Given the description of an element on the screen output the (x, y) to click on. 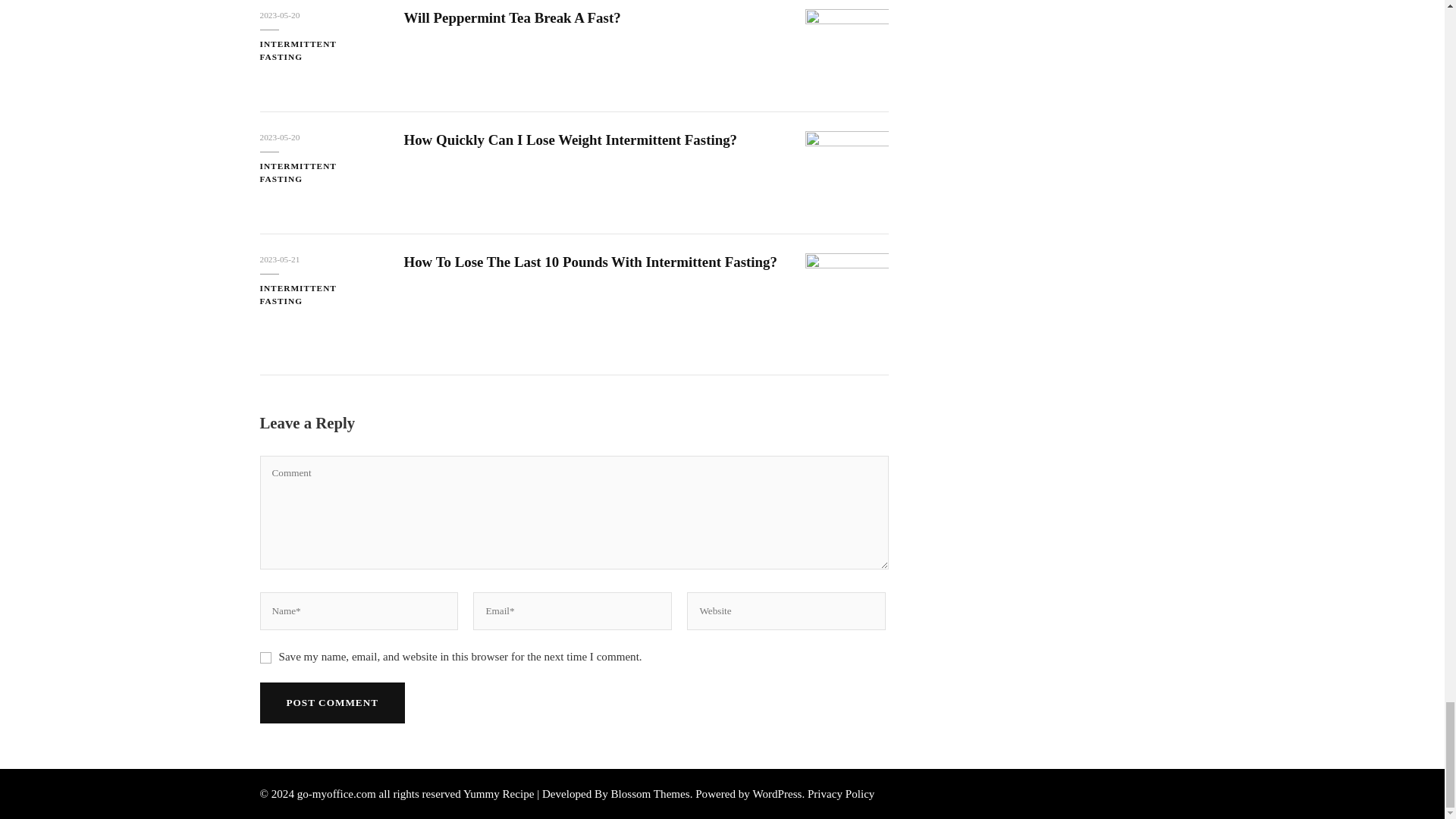
INTERMITTENT FASTING (319, 172)
2023-05-20 (279, 137)
2023-05-20 (279, 15)
How Quickly Can I Lose Weight Intermittent Fasting? (569, 139)
Will Peppermint Tea Break A Fast? (511, 17)
Post Comment (331, 702)
INTERMITTENT FASTING (319, 50)
